Given the description of an element on the screen output the (x, y) to click on. 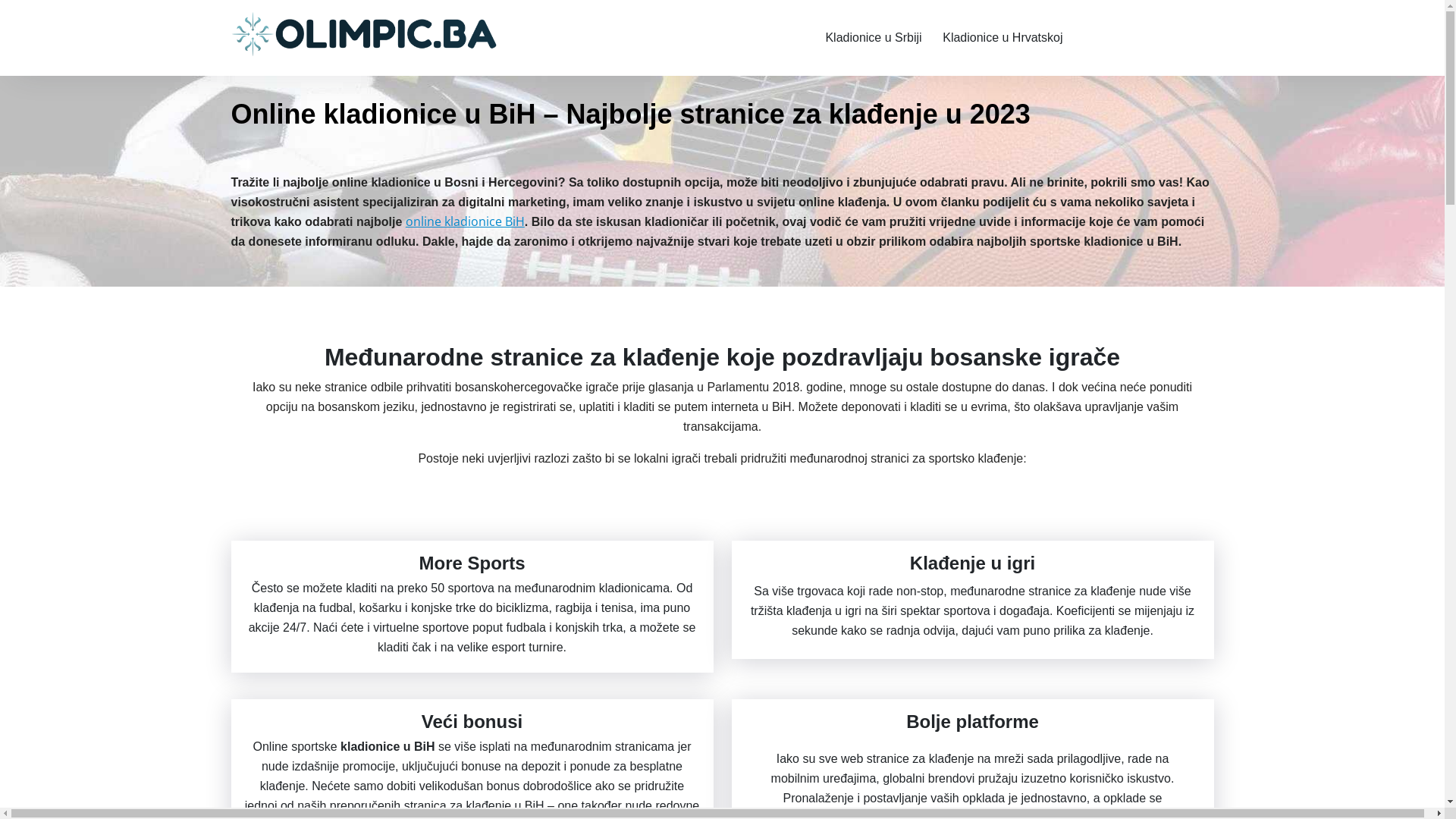
Kladionice u Hrvatskoj Element type: text (1002, 37)
Kladionice u Srbiji Element type: text (873, 37)
online kladionice BiH Element type: text (464, 221)
